Given the description of an element on the screen output the (x, y) to click on. 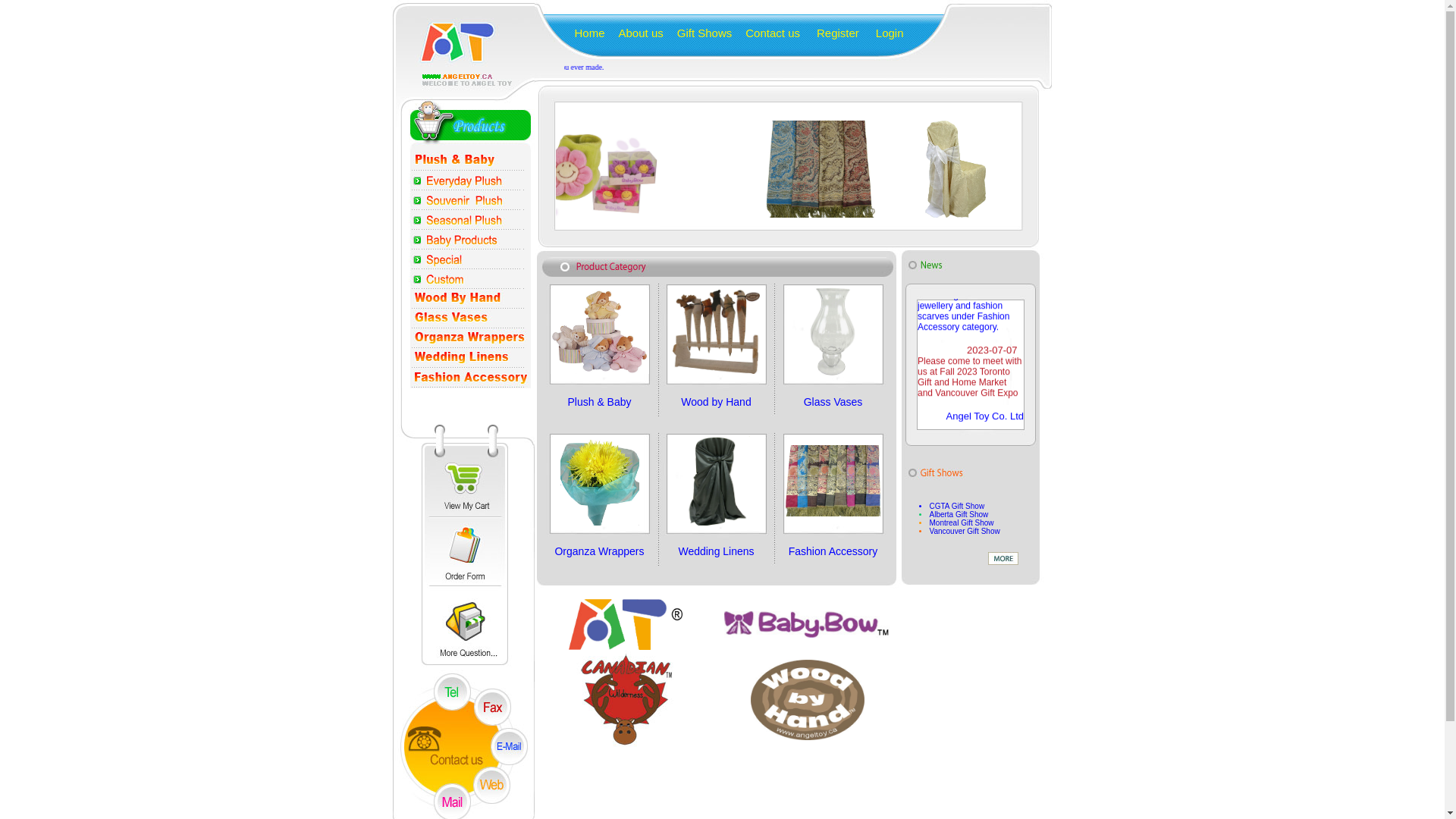
Plush & Baby Element type: text (598, 400)
Vancouver Gift Show Element type: text (964, 531)
Flower Element type: hover (571, 168)
Alberta Gift Show Element type: text (958, 514)
Montreal Gift Show Element type: text (961, 522)
About us Element type: text (634, 32)
Glass Vases Element type: text (832, 400)
Contact us Element type: text (765, 32)
Plusy & Baby Element type: hover (599, 331)
Wedding Linens Element type: text (715, 550)
Login Element type: text (882, 32)
CGTA Gift Show Element type: text (957, 506)
Organza Wrappers Element type: text (598, 550)
Wood by Hand Element type: text (715, 400)
Fashion Accessory Element type: text (833, 550)
Register Element type: text (831, 32)
Gift Shows Element type: text (697, 32)
Home Element type: text (583, 32)
